Given the description of an element on the screen output the (x, y) to click on. 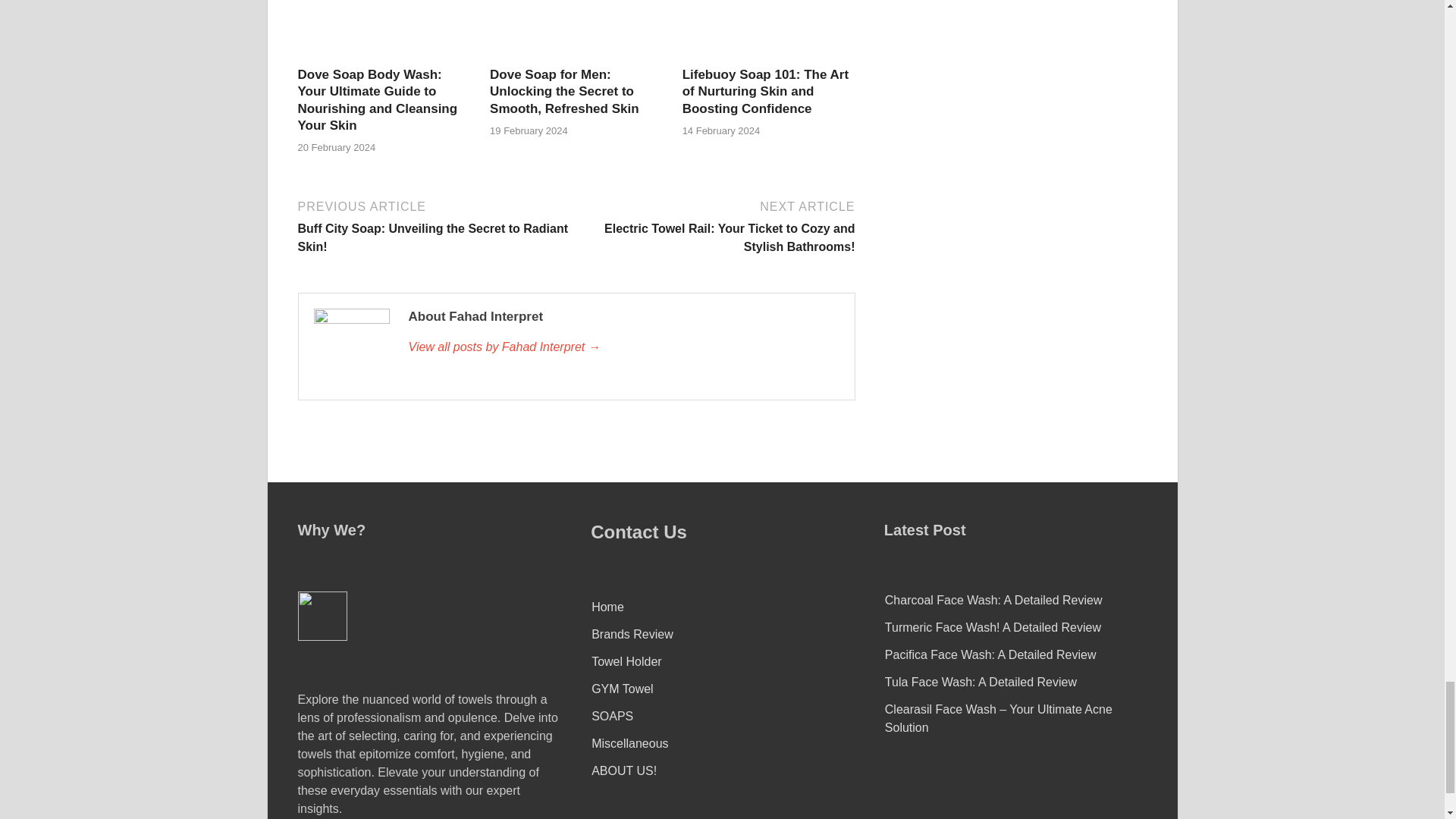
Fahad Interpret (622, 347)
